Given the description of an element on the screen output the (x, y) to click on. 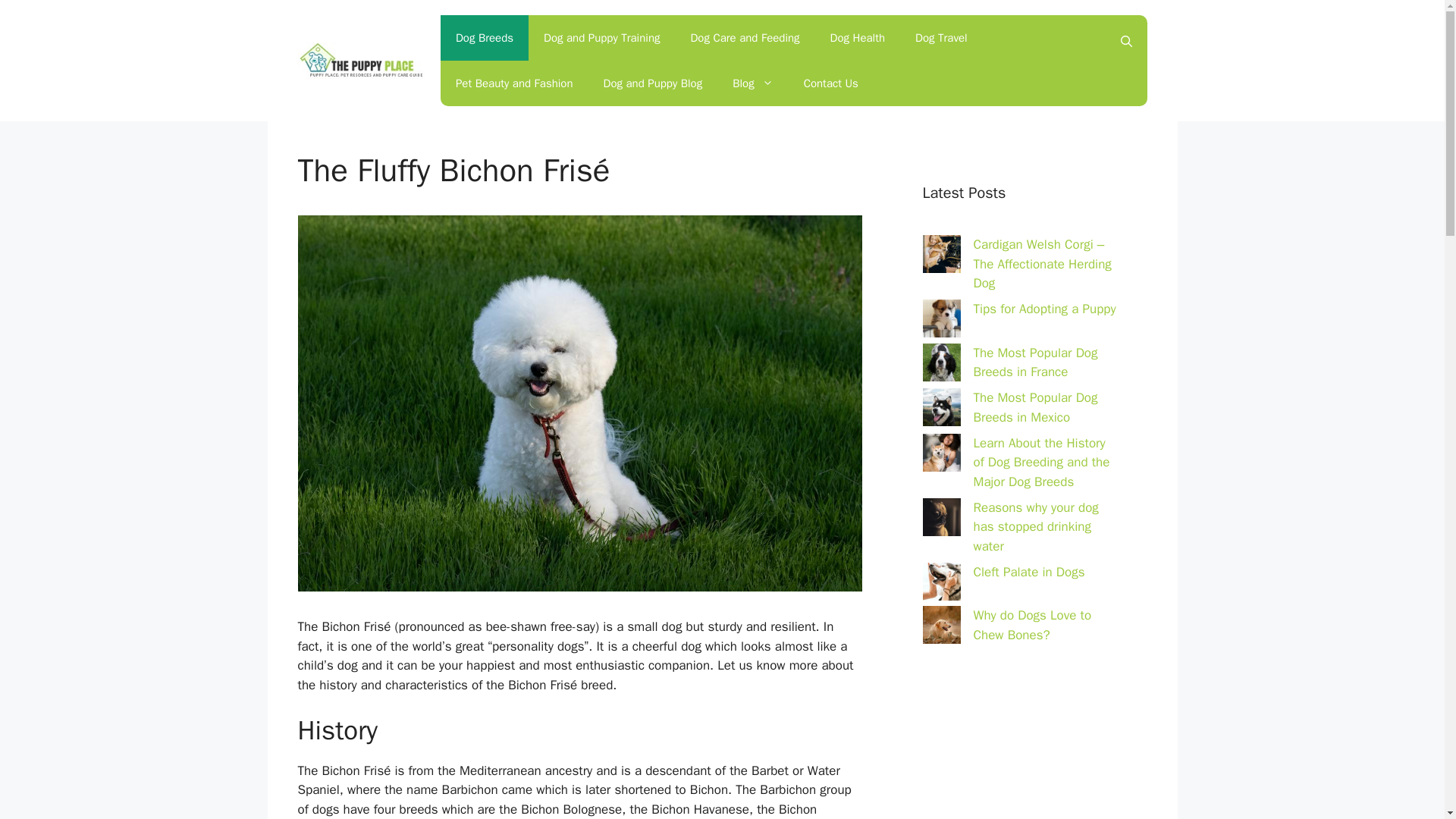
Pet Beauty and Fashion (514, 83)
Dog Breeds (484, 37)
Cleft Palate in Dogs (1029, 571)
Dog Care and Feeding (744, 37)
The Most Popular Dog Breeds in France (1035, 361)
Dog and Puppy Blog (652, 83)
Contact Us (831, 83)
Dog and Puppy Training (601, 37)
The Most Popular Dog Breeds in Mexico (1035, 407)
